Given the description of an element on the screen output the (x, y) to click on. 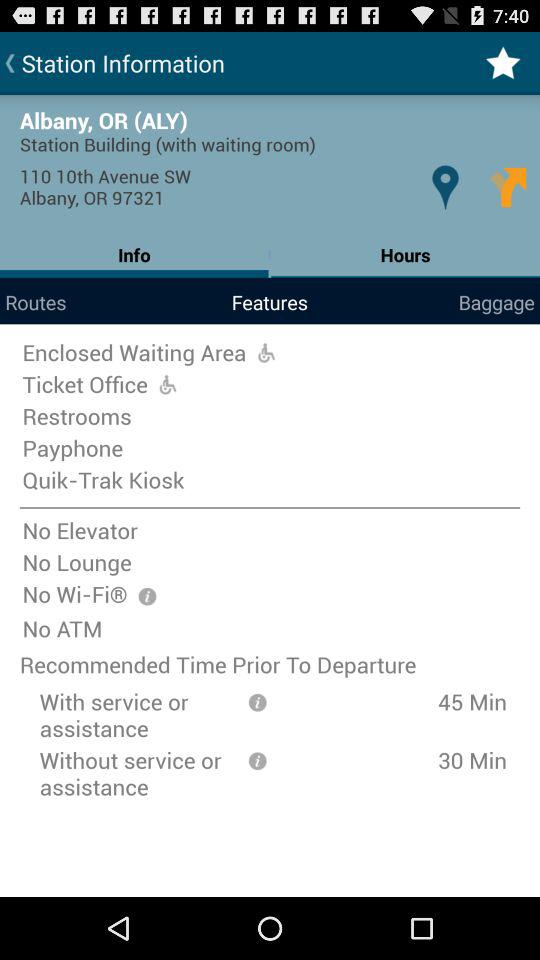
view info (257, 759)
